Given the description of an element on the screen output the (x, y) to click on. 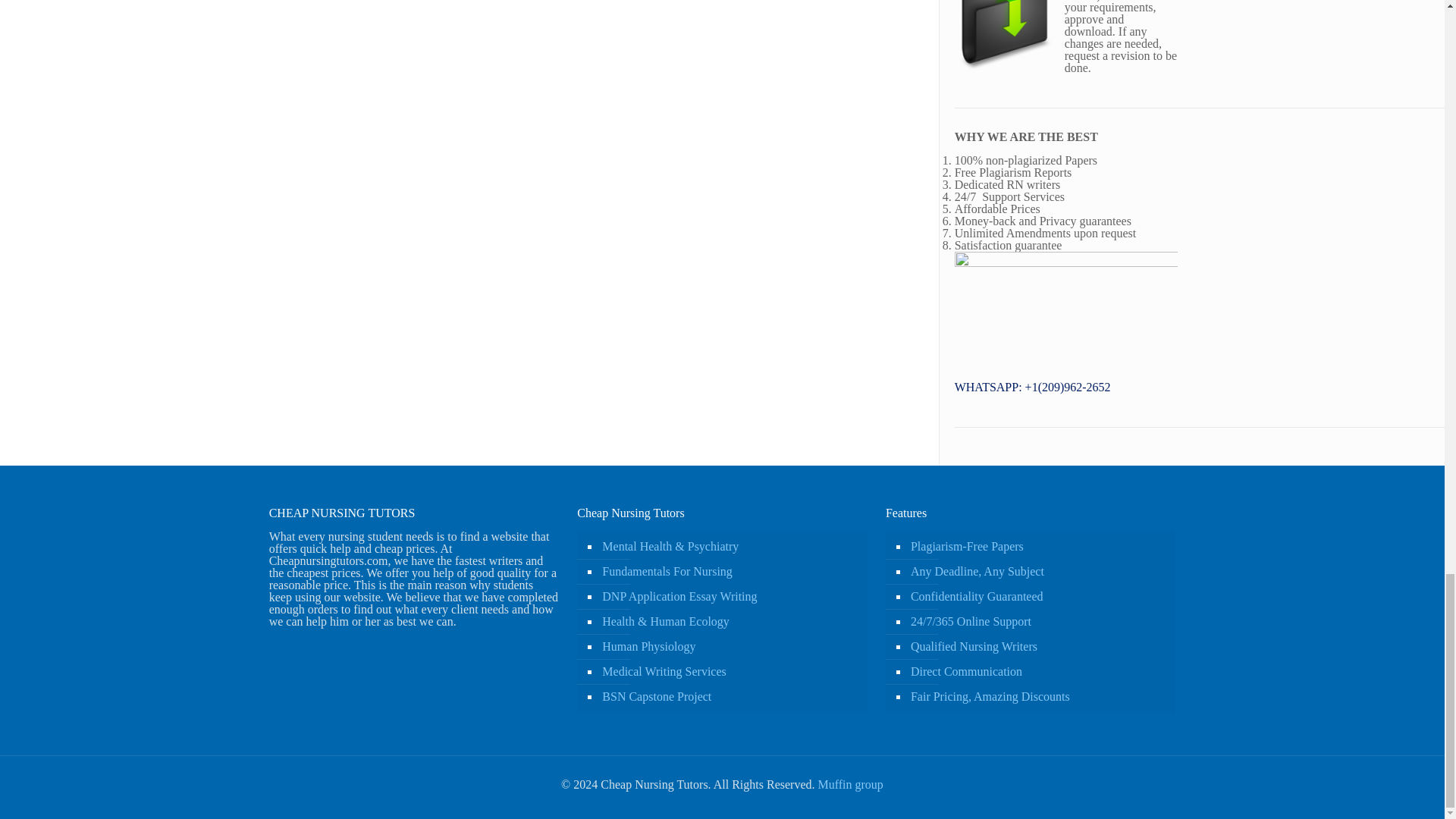
Fundamentals For Nursing (729, 571)
Human Physiology (729, 647)
Any Deadline, Any Subject (1037, 571)
Medical Writing Services (729, 672)
Qualified Nursing Writers (1037, 647)
DNP Application Essay Writing (729, 596)
Confidentiality Guaranteed (1037, 596)
Fair Pricing, Amazing Discounts (1037, 697)
Direct Communication (1037, 672)
Plagiarism-Free Papers (1037, 546)
Muffin group (849, 784)
BSN Capstone Project (729, 697)
